Given the description of an element on the screen output the (x, y) to click on. 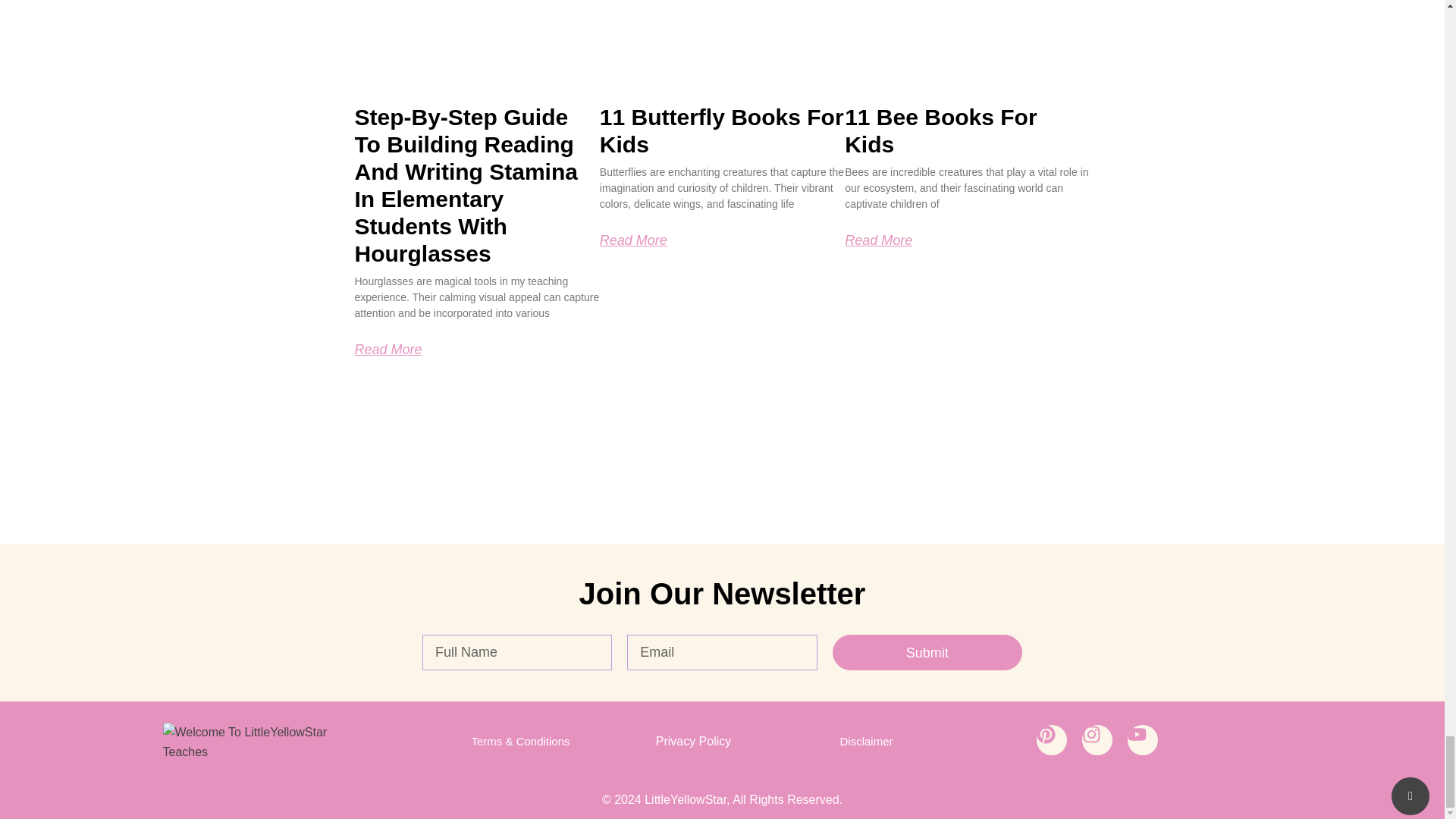
11 Butterfly Books For Kids (721, 130)
Read More (388, 349)
